Given the description of an element on the screen output the (x, y) to click on. 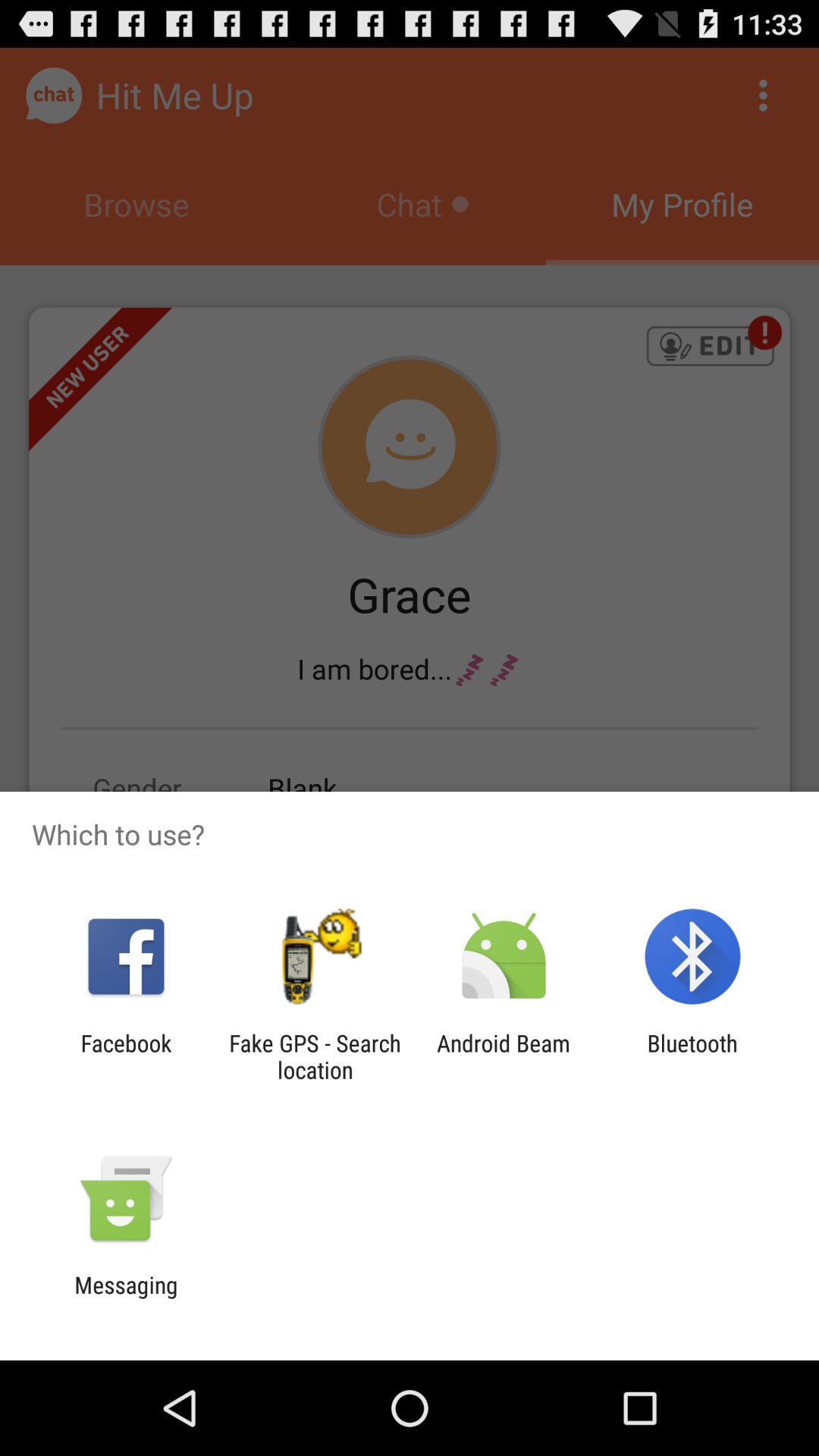
click the messaging app (126, 1298)
